Given the description of an element on the screen output the (x, y) to click on. 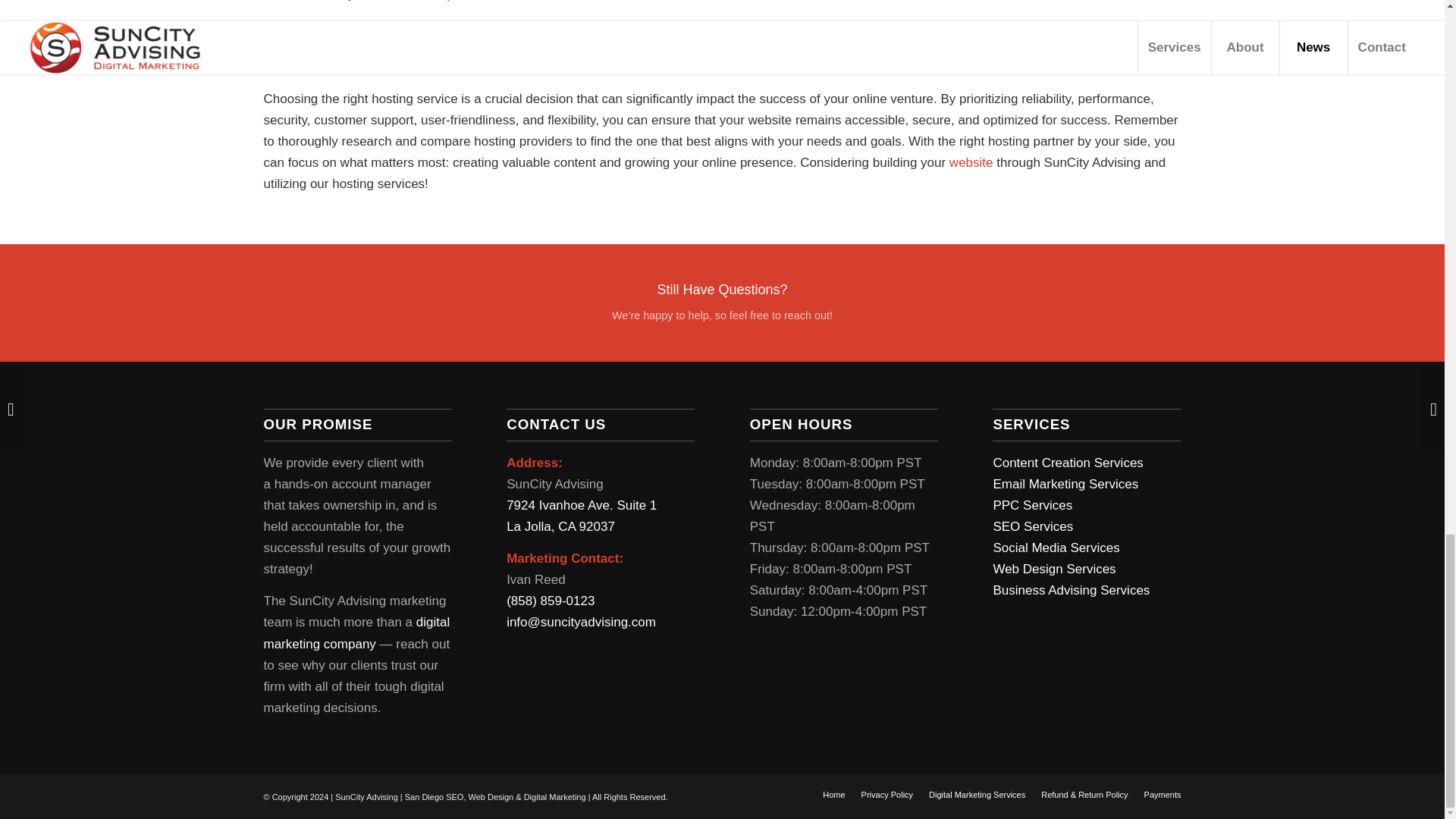
La Jolla, CA 92037 (560, 526)
Payments (1162, 794)
Business Advising Services (1071, 590)
Privacy Policy (886, 794)
website (970, 162)
Email Marketing Services (1065, 483)
Home (833, 794)
7924 Ivanhoe Ave. Suite 1 (581, 504)
SEO Services (1032, 526)
Social Media Services (1055, 547)
Digital Marketing Services (976, 794)
Web Design Services (1053, 568)
PPC Services (1031, 504)
Content Creation Services (1067, 462)
digital marketing company (356, 632)
